Given the description of an element on the screen output the (x, y) to click on. 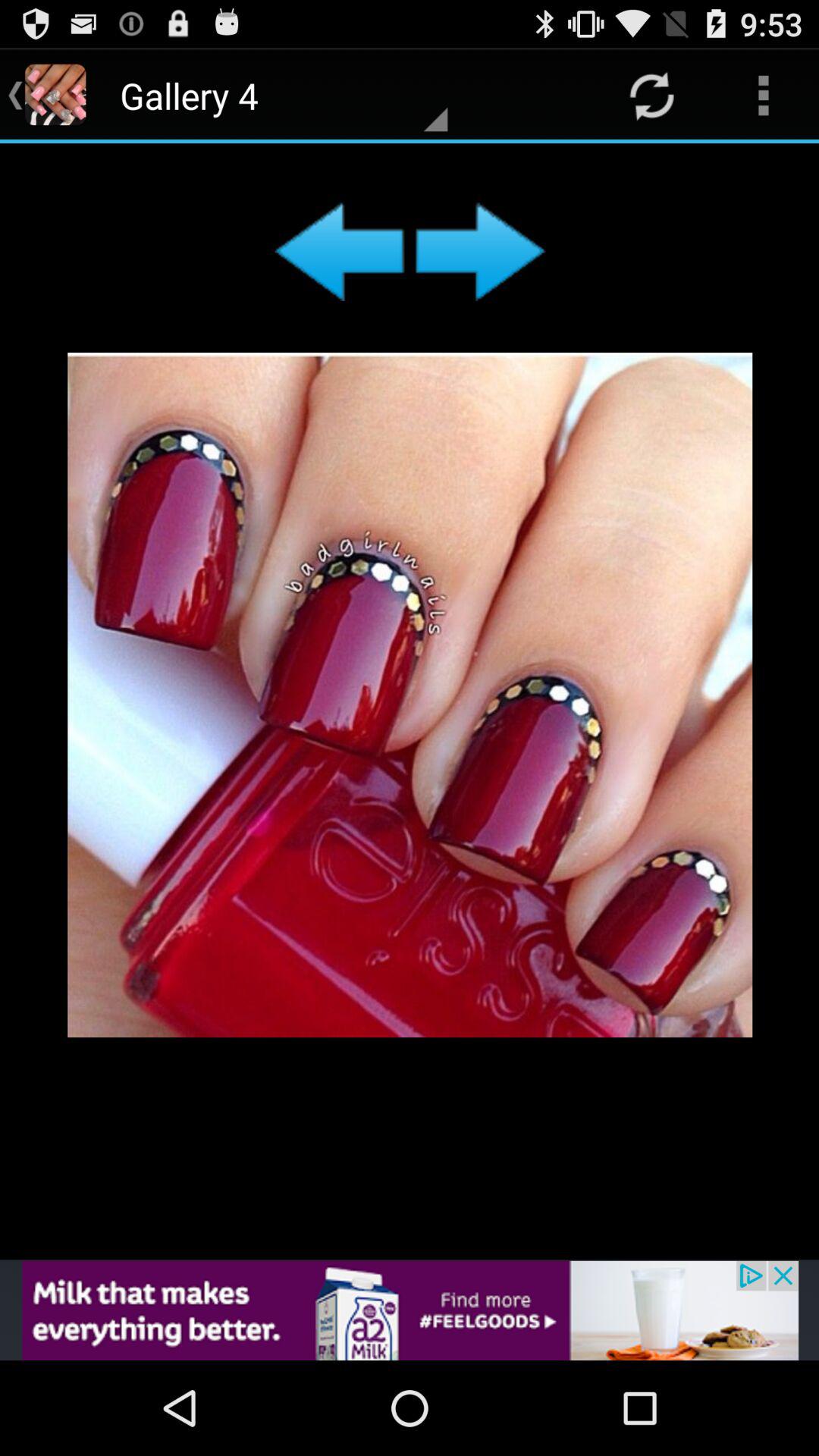
image gallery (409, 701)
